Given the description of an element on the screen output the (x, y) to click on. 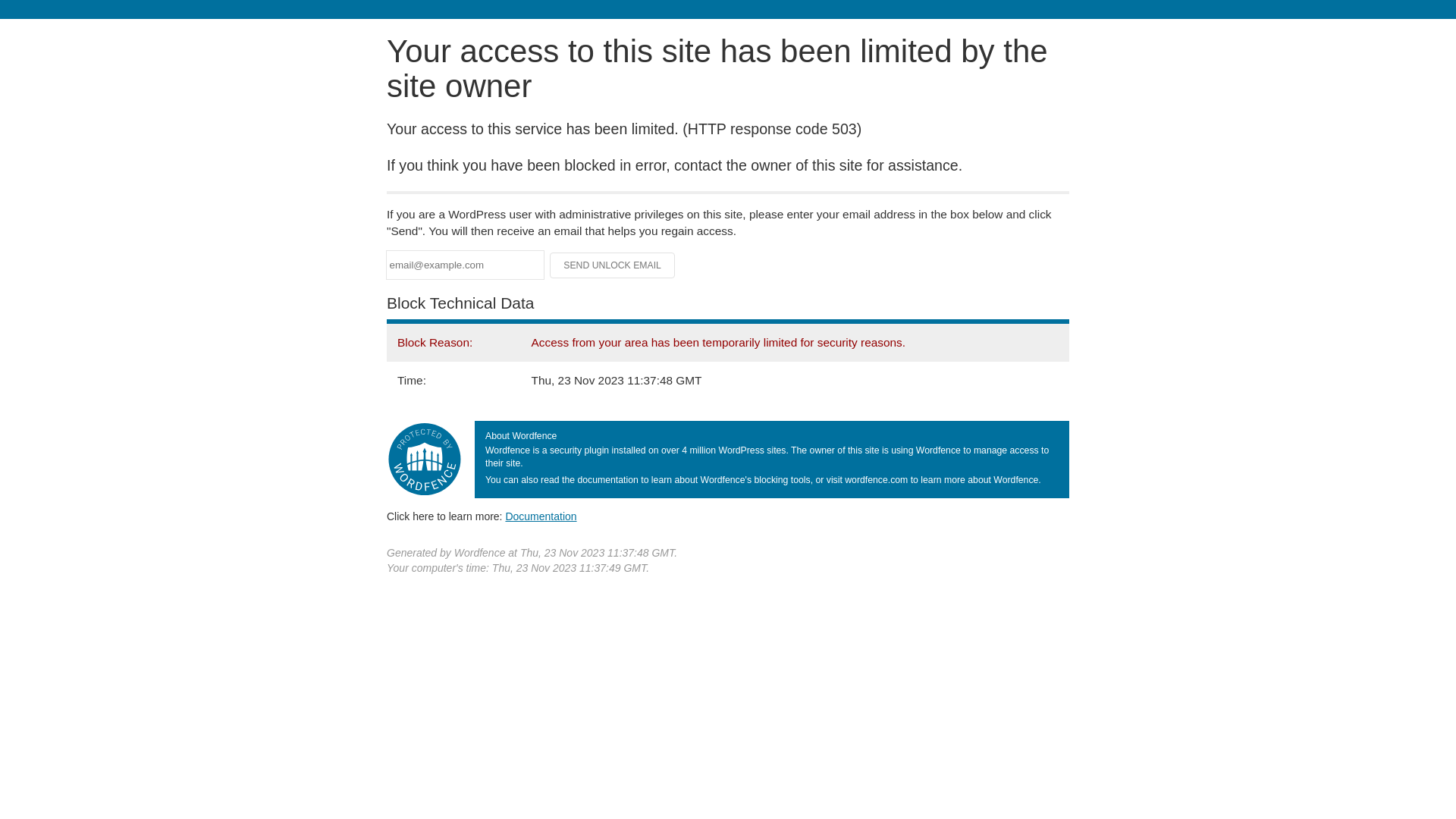
Documentation Element type: text (540, 516)
Send Unlock Email Element type: text (612, 265)
